Given the description of an element on the screen output the (x, y) to click on. 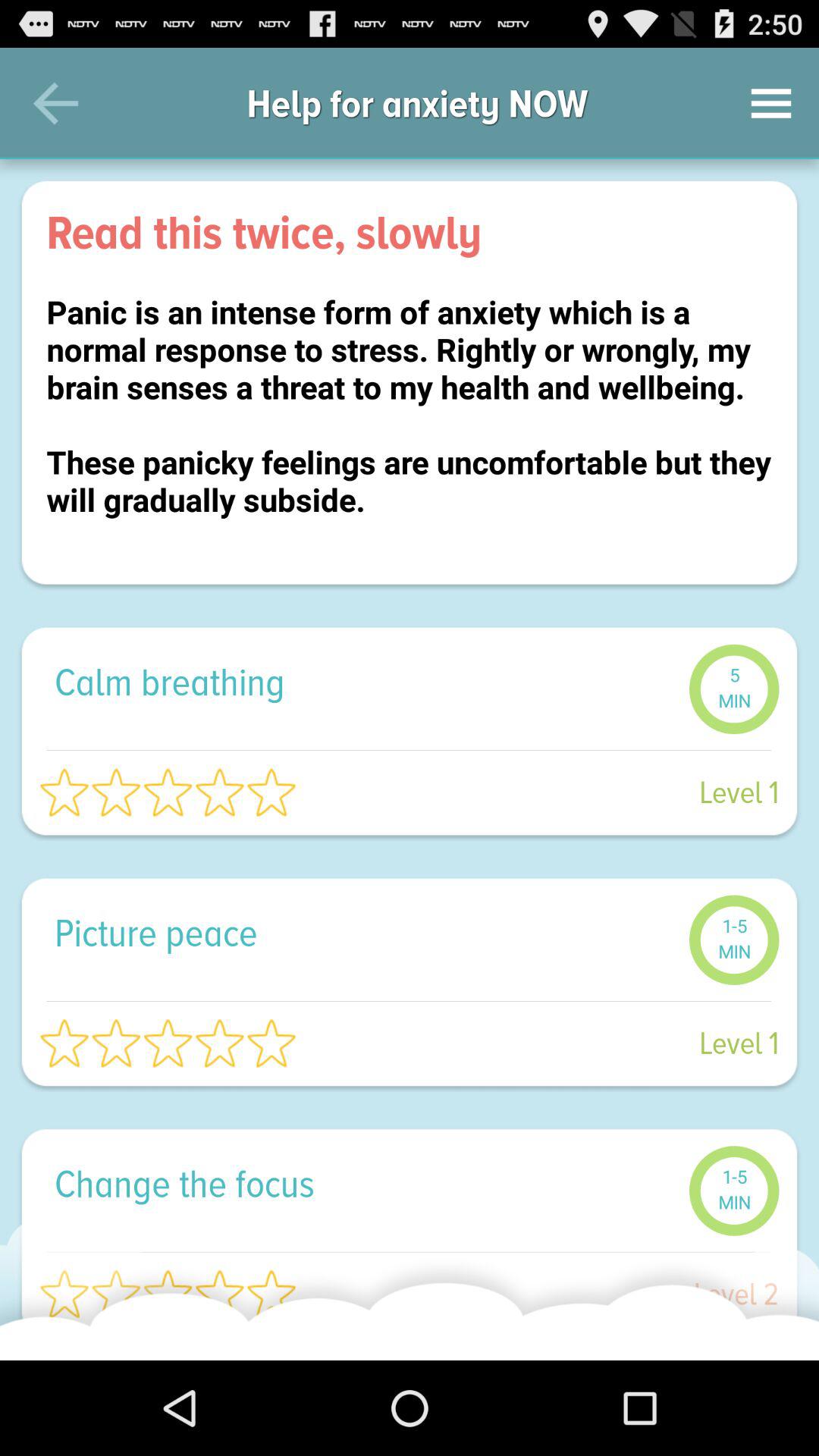
tap icon below read this twice (409, 424)
